Given the description of an element on the screen output the (x, y) to click on. 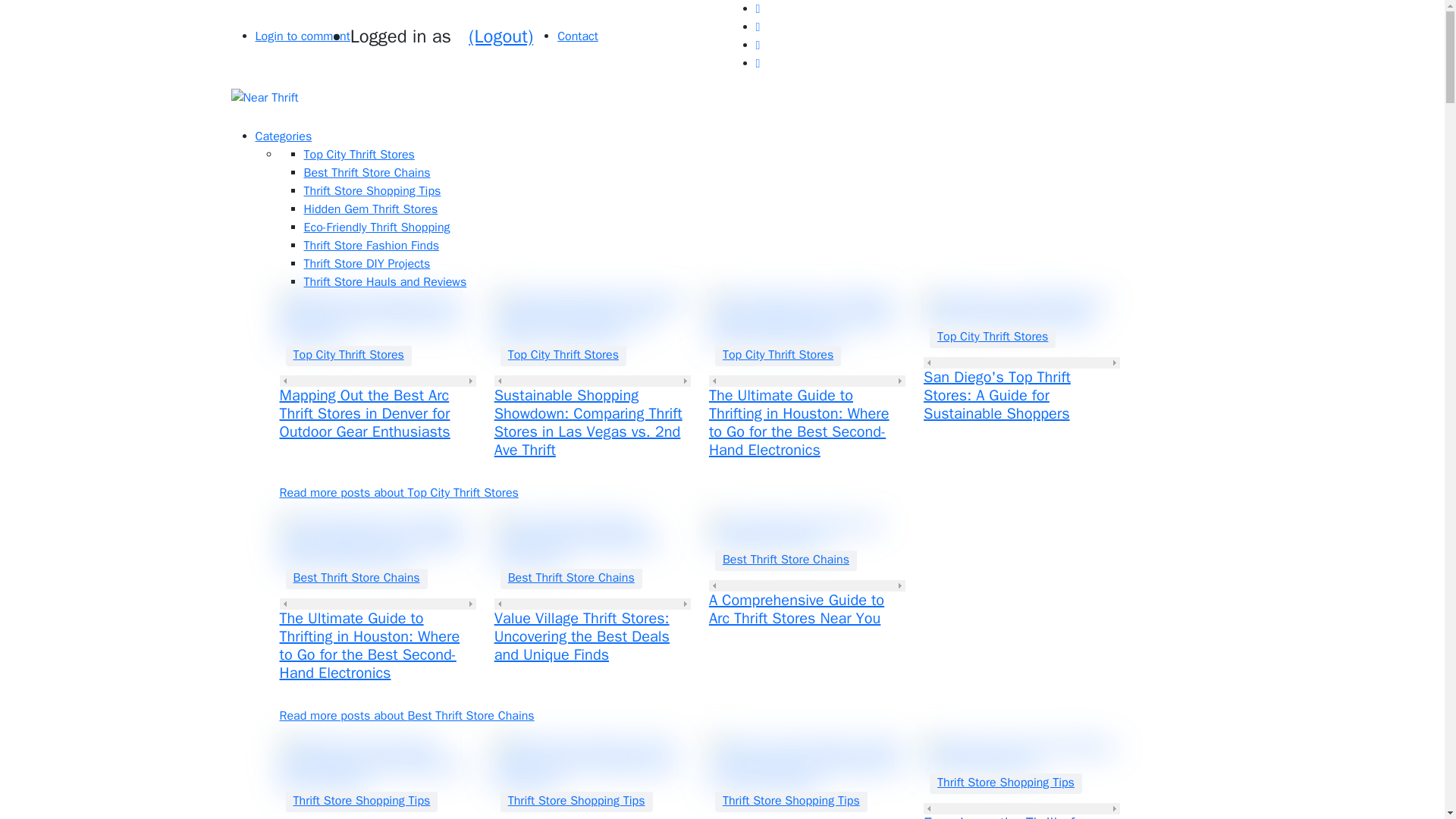
Top City Thrift Stores (563, 354)
Read more posts about Best Thrift Store Chains (406, 715)
Contact (577, 36)
Read more posts about Top City Thrift Stores (398, 492)
Categories (282, 136)
Login to comment (301, 36)
Hidden Gem Thrift Stores (370, 209)
Best Thrift Store Chains (355, 577)
Thrift Store Shopping Tips (371, 191)
